Given the description of an element on the screen output the (x, y) to click on. 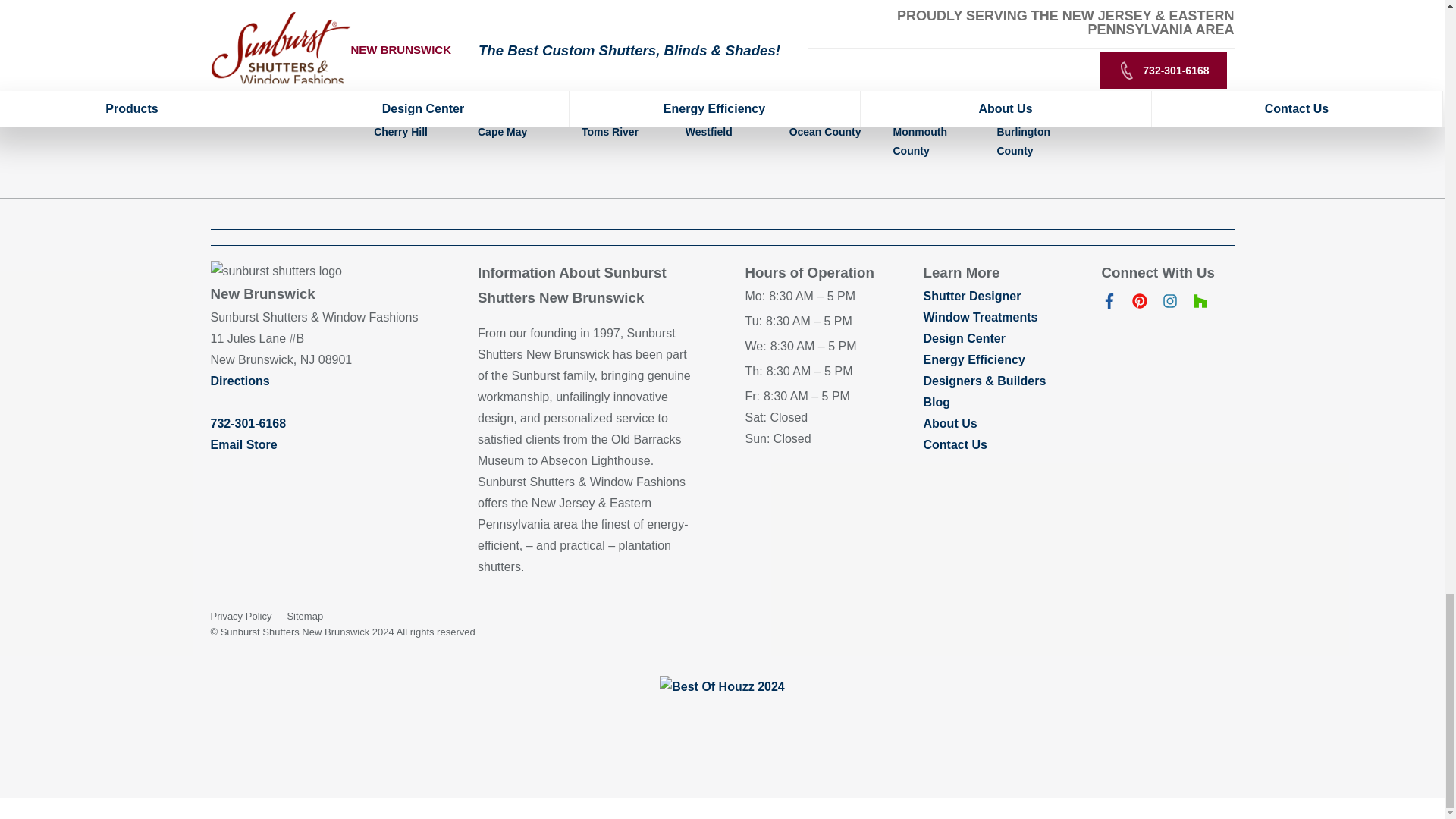
Follow us on Pinterest (1139, 304)
Like us on Facebook (1108, 304)
Best Of Houzz 2024 (721, 686)
Save us on Houzz (1199, 304)
Follow us on Instagram (1168, 304)
